Given the description of an element on the screen output the (x, y) to click on. 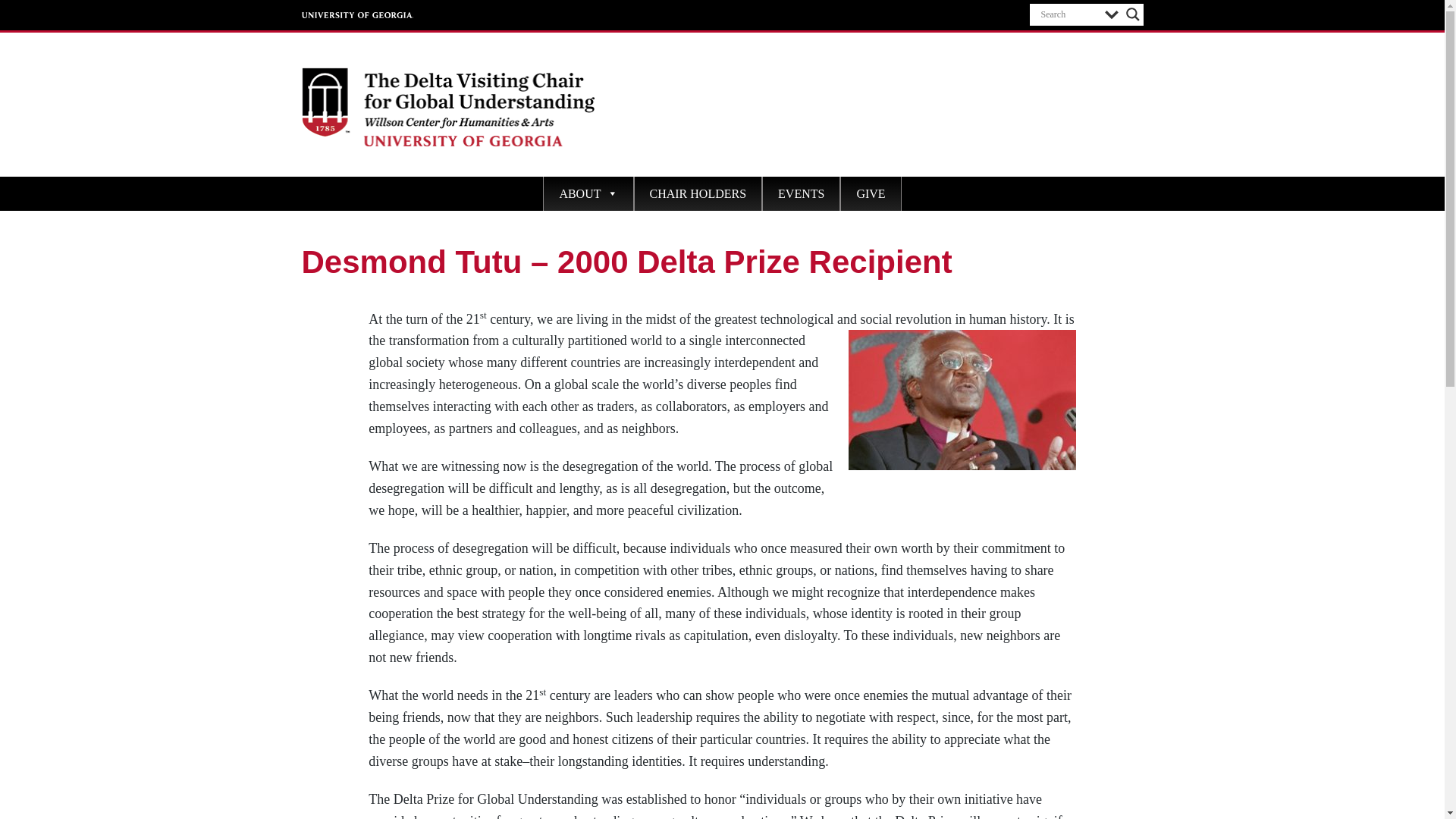
ABOUT (588, 193)
University of Georgia (357, 15)
give (870, 193)
The Delta Chair for Global Understanding (413, 176)
